Given the description of an element on the screen output the (x, y) to click on. 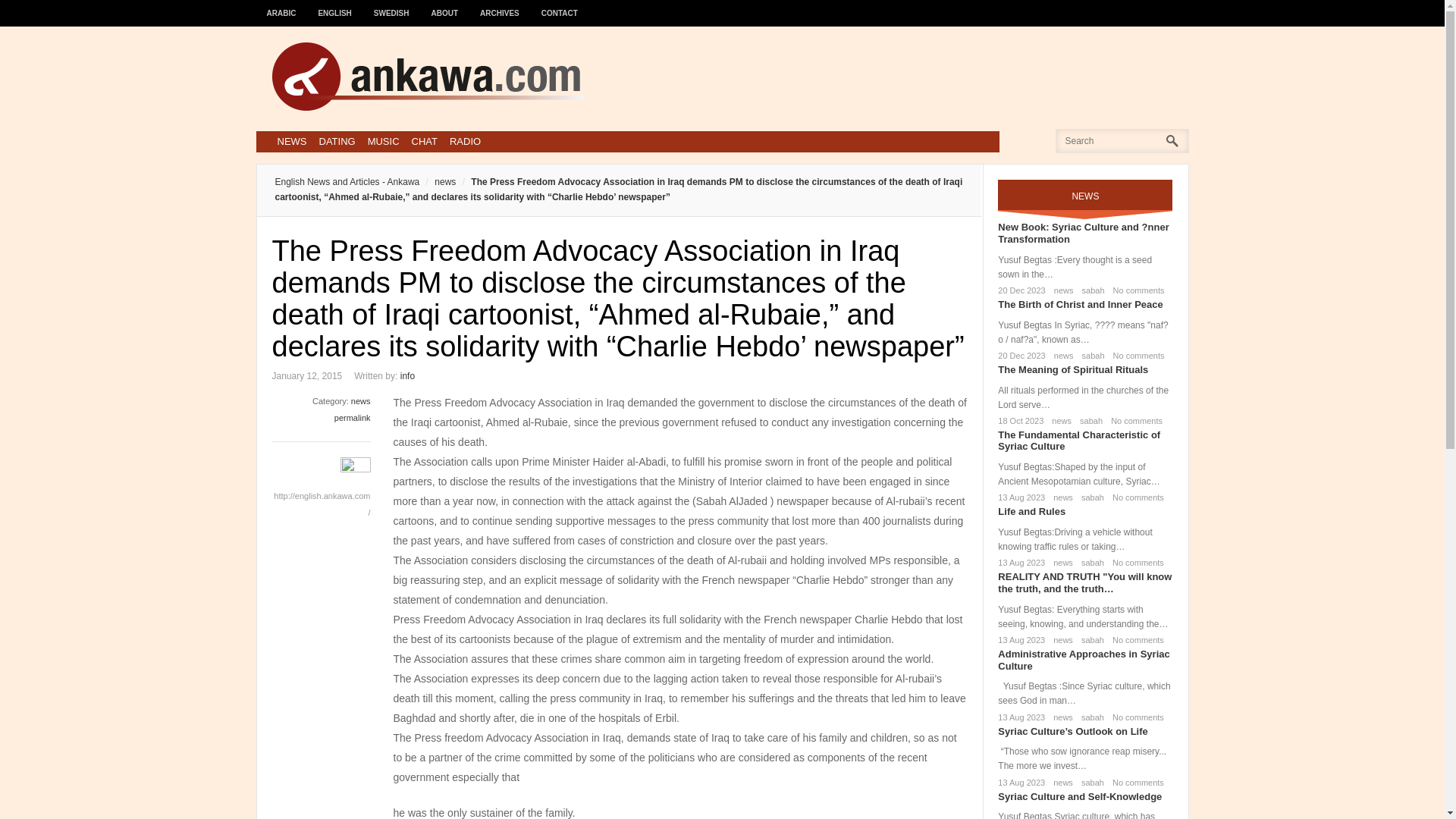
sabah (1090, 289)
sabah (1089, 497)
MUSIC (383, 141)
CONTACT (560, 5)
sabah (1088, 420)
RADIO (465, 141)
news (360, 400)
news (1061, 289)
Administrative Approaches in Syriac Culture (1083, 659)
No comments (1134, 497)
The Birth of Christ and Inner Peace (1079, 304)
news (1059, 497)
No comments (1135, 289)
The Birth of Christ and Inner Peace (1079, 304)
